Given the description of an element on the screen output the (x, y) to click on. 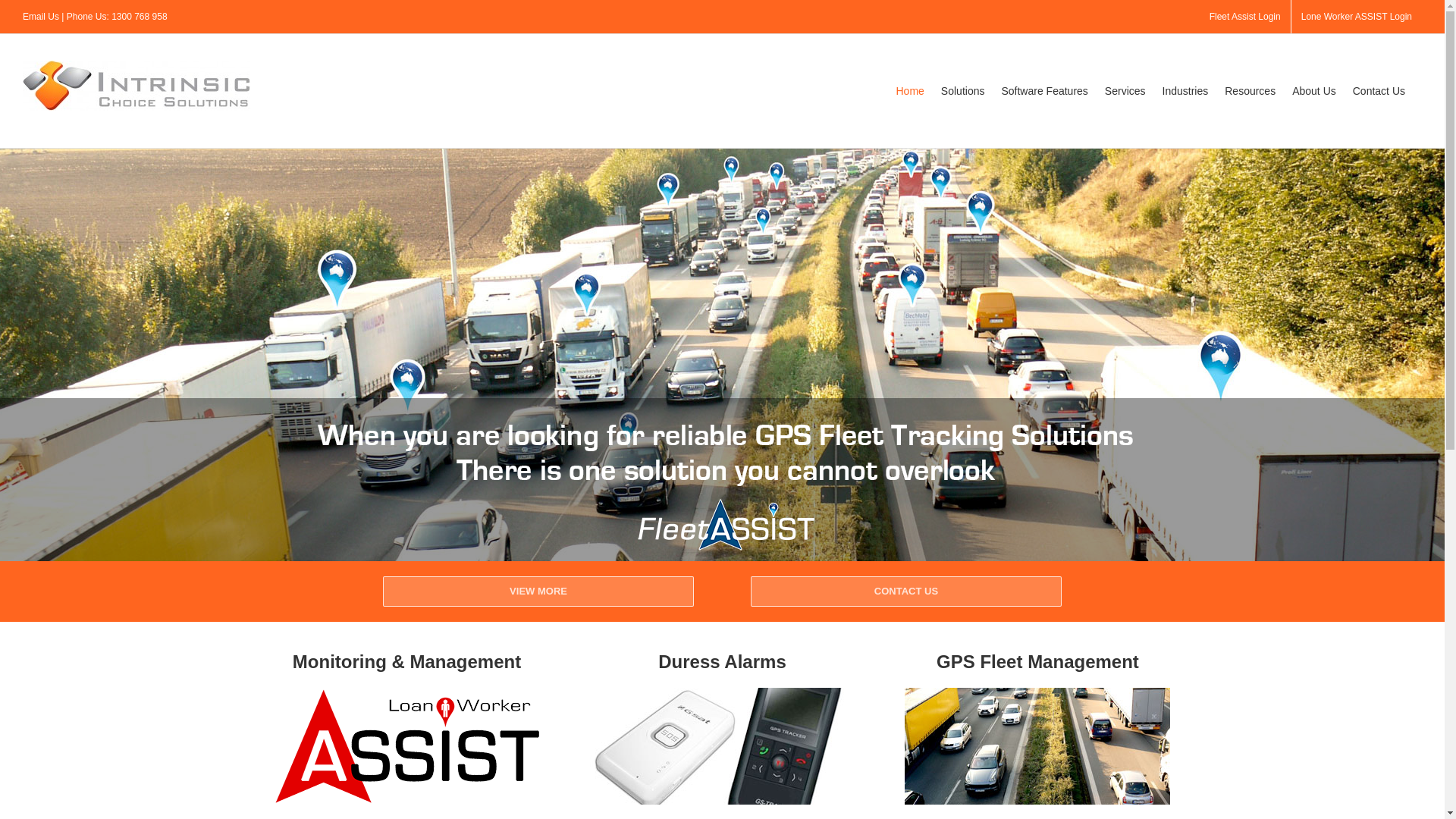
Lone Worker ASSIST Login Element type: text (1356, 16)
About Us Element type: text (1314, 90)
Solutions Element type: text (963, 90)
Email Us | Phone Us: 1300 768 958 Element type: text (94, 16)
Resources Element type: text (1249, 90)
Home Element type: text (910, 90)
Industries Element type: text (1185, 90)
VIEW MORE Element type: text (537, 591)
Fleet Assist Login Element type: text (1244, 16)
Software Features Element type: text (1044, 90)
CONTACT US Element type: text (905, 591)
Contact Us Element type: text (1378, 90)
Services Element type: text (1124, 90)
